Given the description of an element on the screen output the (x, y) to click on. 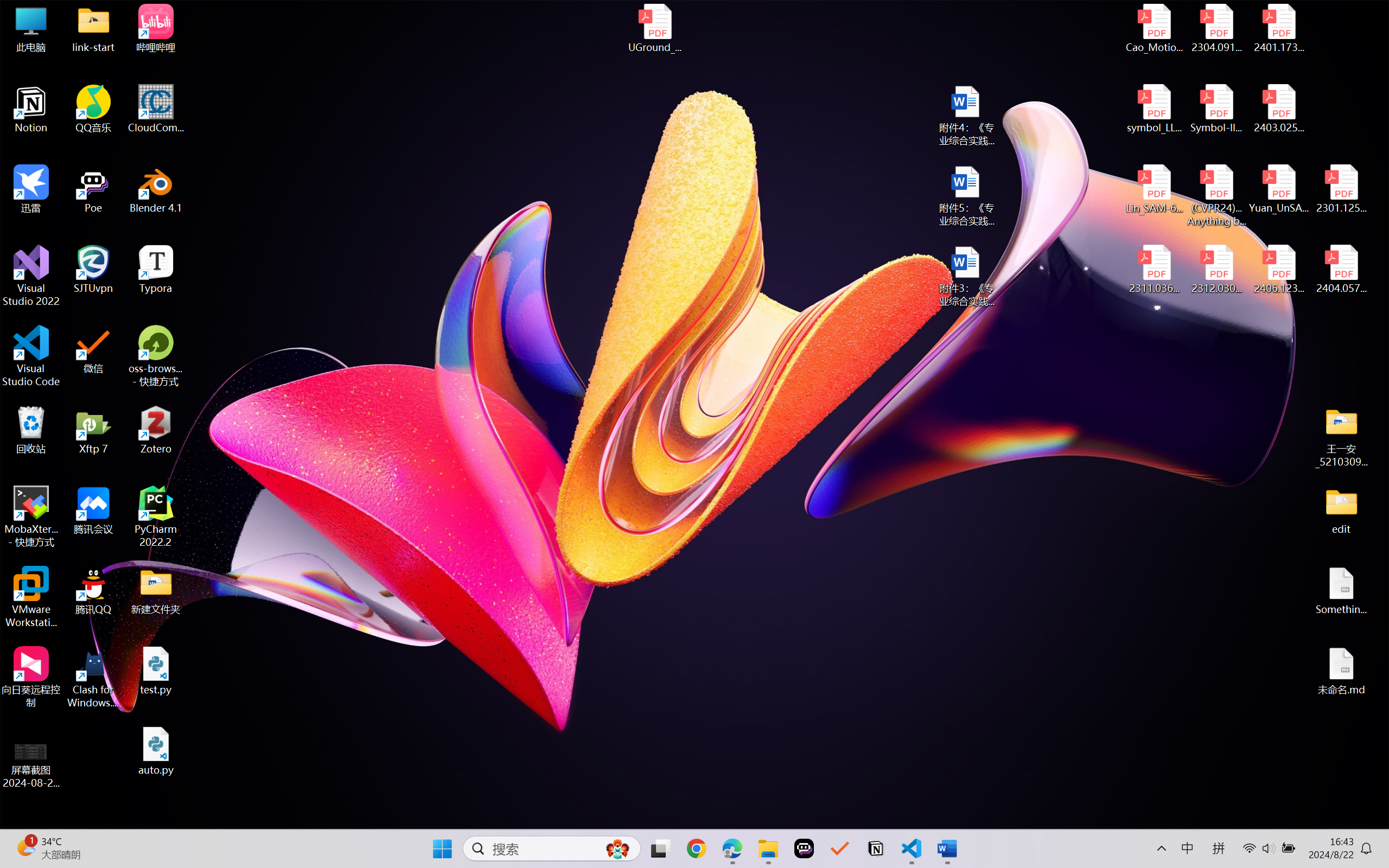
Typora (156, 269)
auto.py (156, 751)
PyCharm 2022.2 (156, 516)
Symbol-llm-v2.pdf (1216, 109)
